Given the description of an element on the screen output the (x, y) to click on. 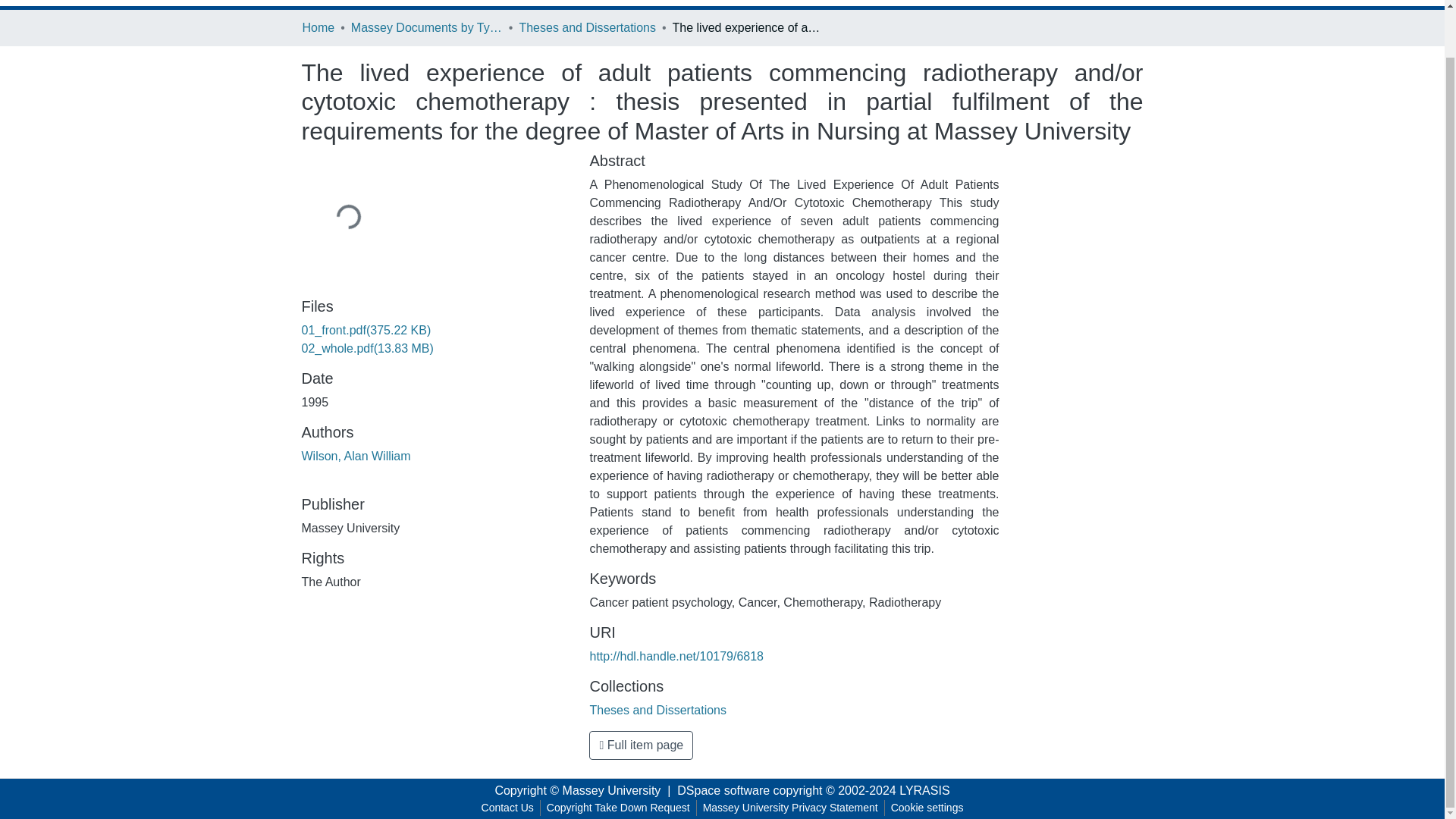
Theses and Dissertations (587, 27)
LYRASIS (924, 789)
Full item page (641, 745)
DSpace software (723, 789)
Home (317, 27)
Contact Us (508, 807)
Wilson, Alan William (355, 455)
Theses and Dissertations (657, 709)
Massey Documents by Type (426, 27)
